Given the description of an element on the screen output the (x, y) to click on. 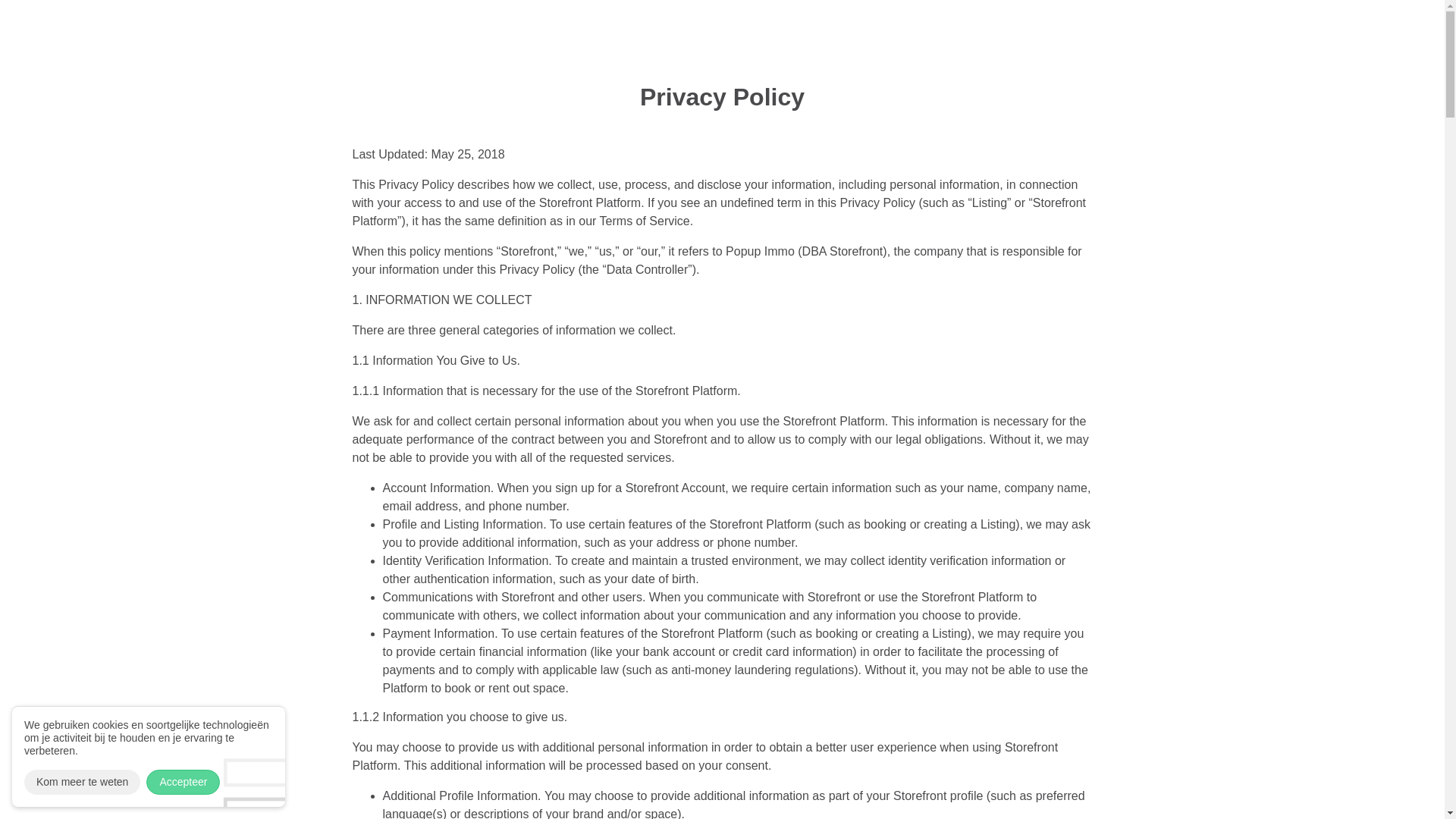
Accepteer (183, 781)
Kom meer te weten (81, 781)
